Given the description of an element on the screen output the (x, y) to click on. 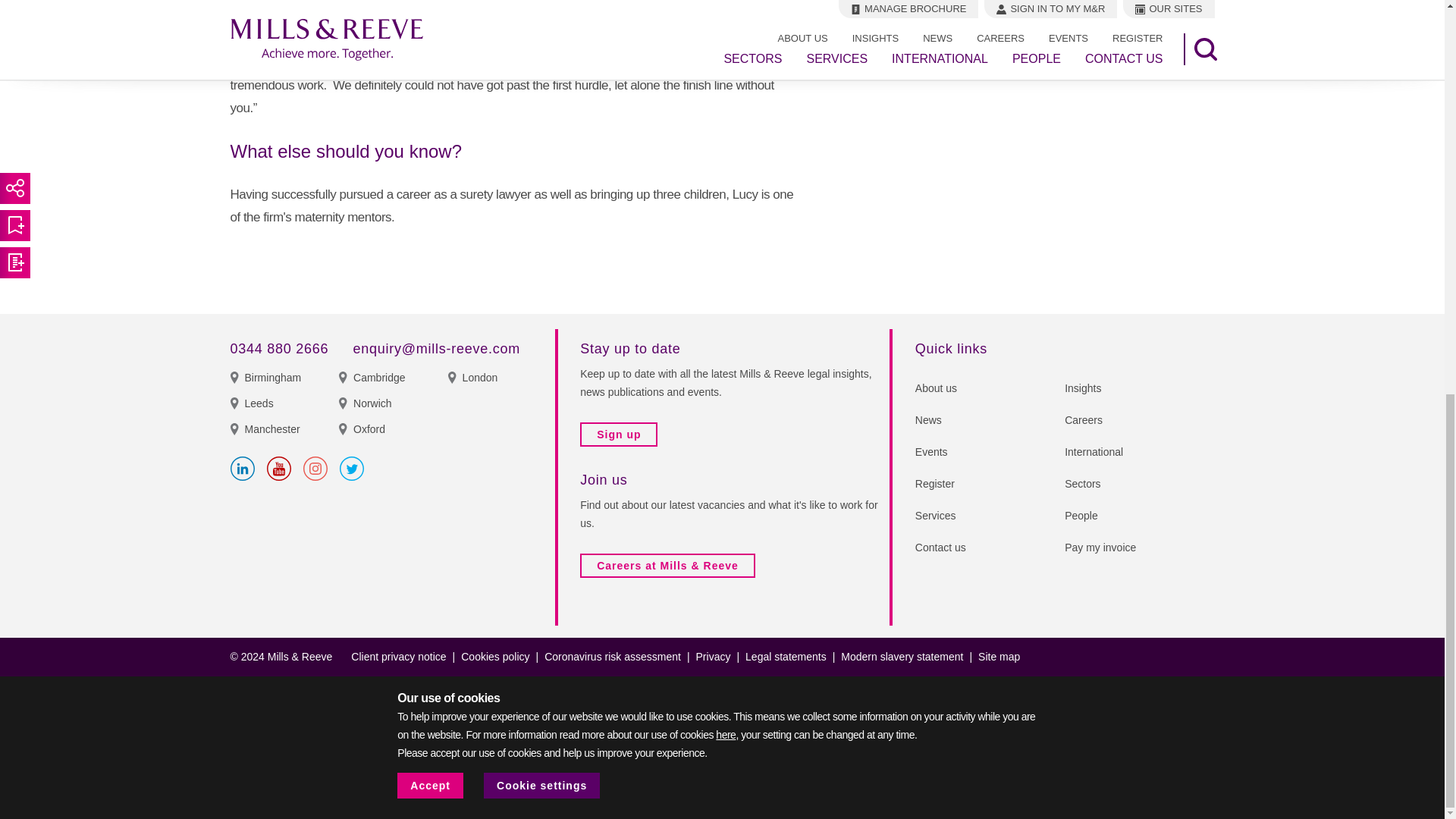
LinkedIn (242, 468)
YouTube (278, 468)
Twitter (351, 468)
Instagram (314, 468)
